Given the description of an element on the screen output the (x, y) to click on. 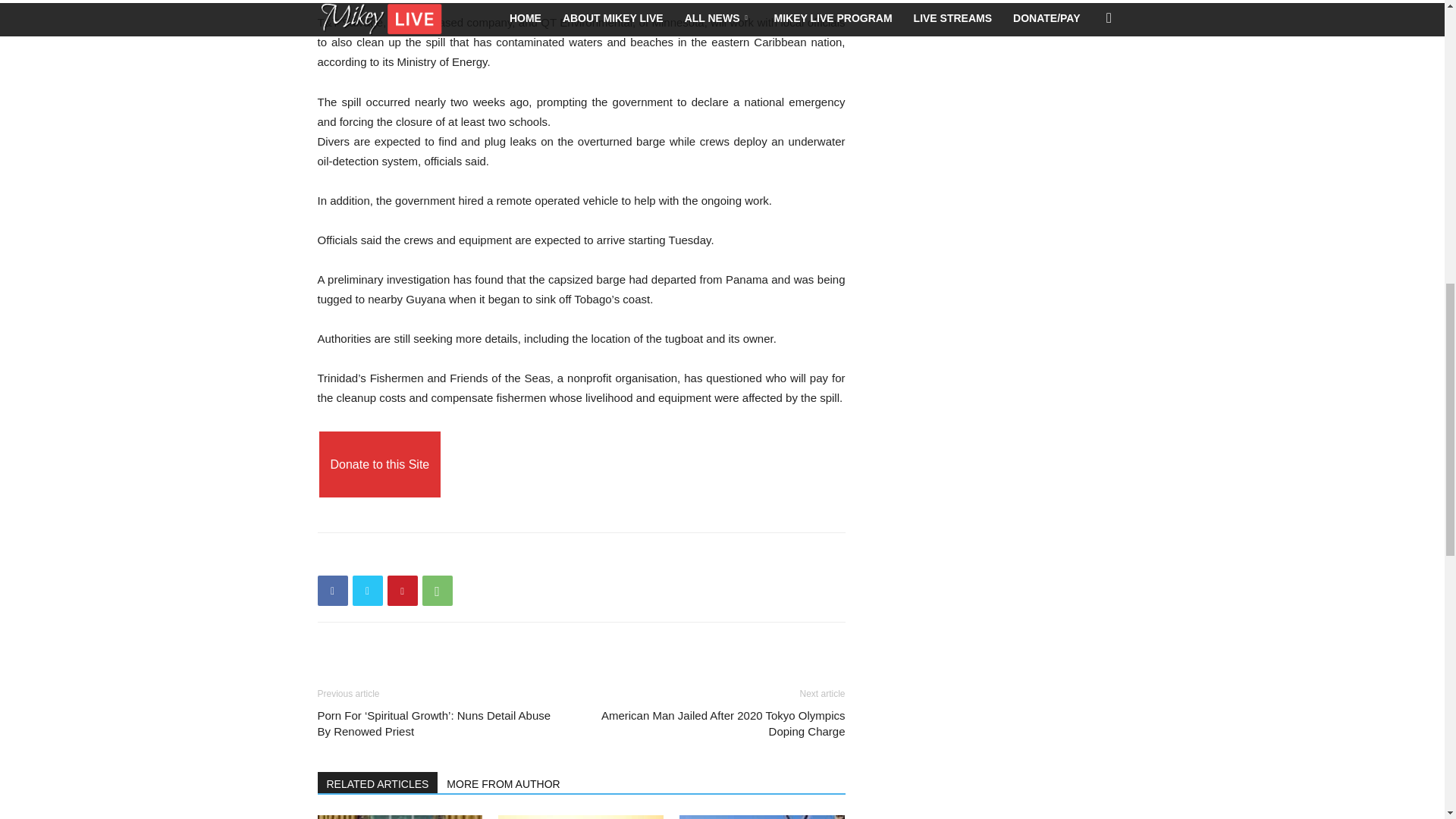
WhatsApp (436, 590)
Facebook (332, 590)
Pinterest (401, 590)
Twitter (366, 590)
bottomFacebookLike (430, 556)
